Given the description of an element on the screen output the (x, y) to click on. 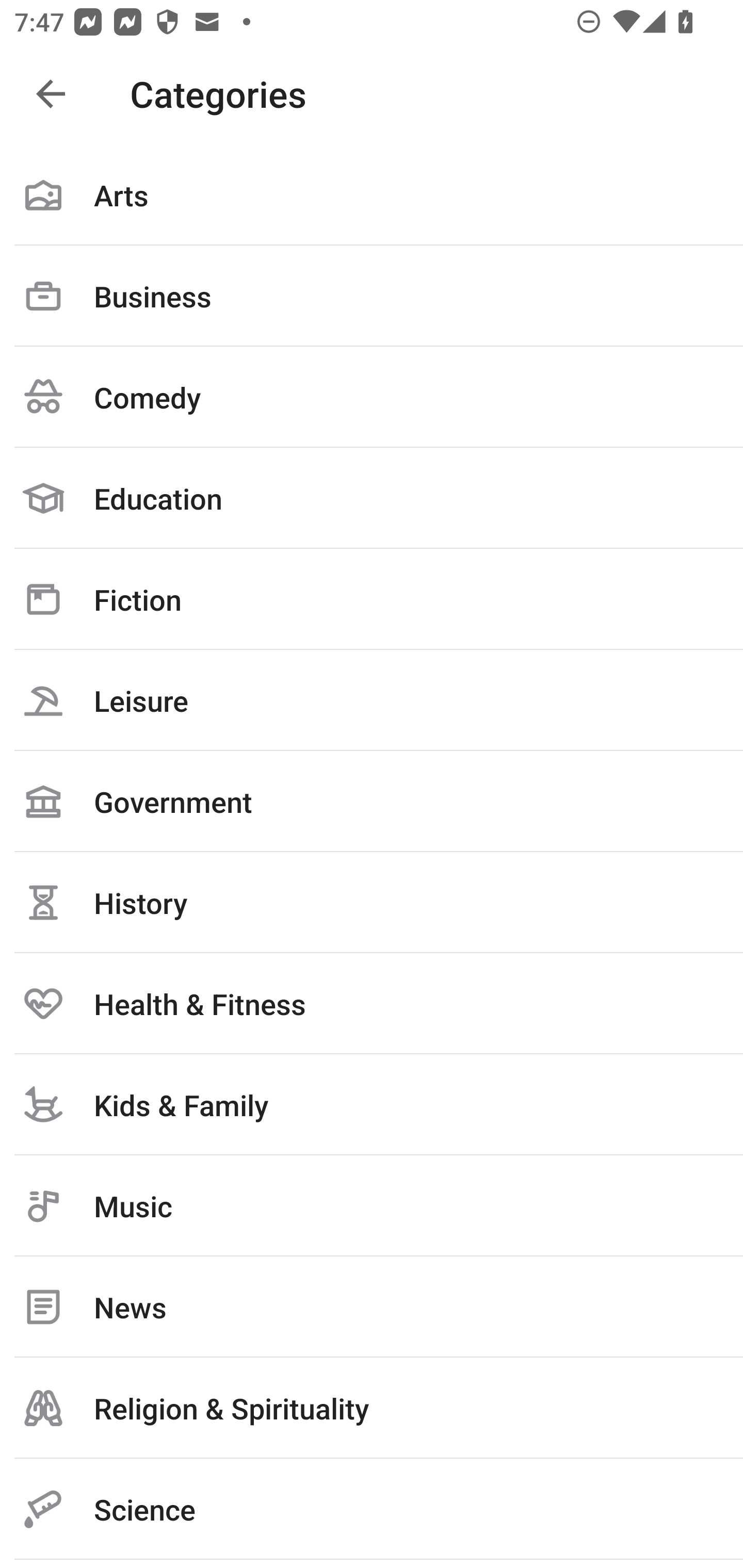
Navigate up (50, 93)
Arts (371, 195)
Business (371, 296)
Comedy (371, 397)
Education (371, 498)
Fiction (371, 598)
Leisure (371, 700)
Government (371, 801)
History (371, 902)
Health & Fitness (371, 1003)
Kids & Family (371, 1104)
Music (371, 1205)
News (371, 1306)
Religion & Spirituality (371, 1407)
Science (371, 1509)
